Given the description of an element on the screen output the (x, y) to click on. 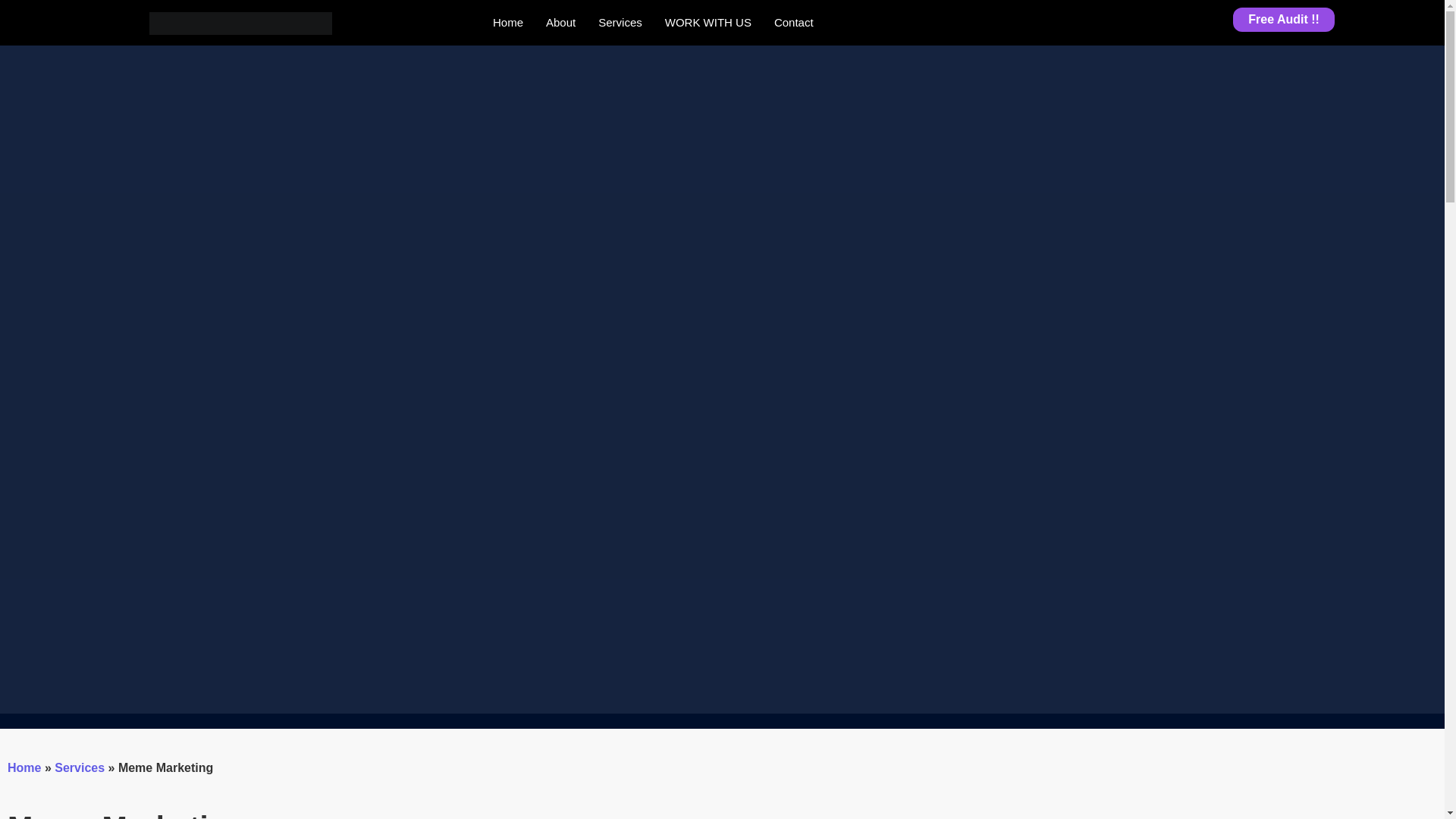
WORK WITH US (707, 22)
About (560, 22)
Free Audit !! (1284, 19)
Home (507, 22)
Contact (793, 22)
Services (619, 22)
